Given the description of an element on the screen output the (x, y) to click on. 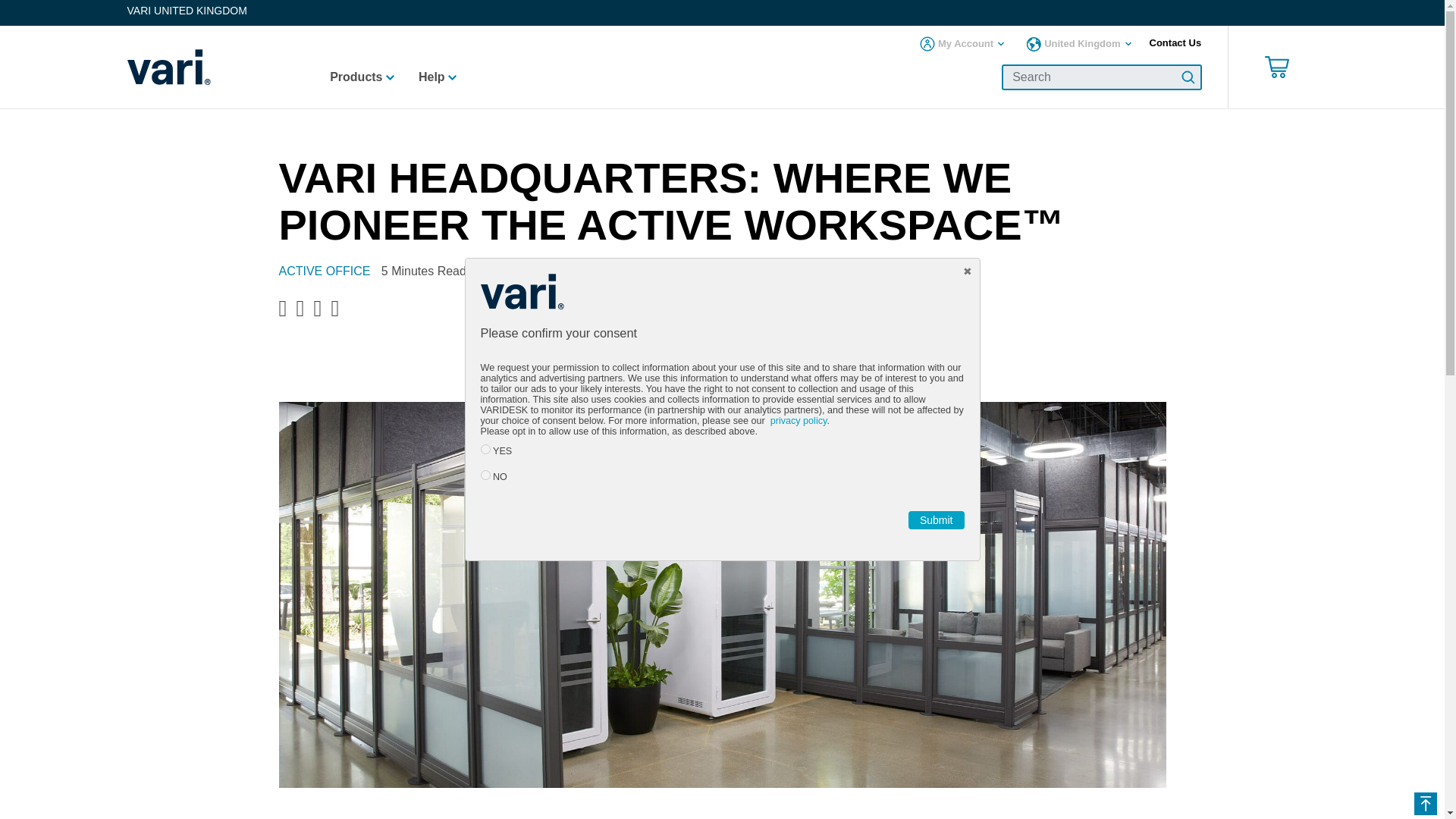
optin (485, 449)
Help (437, 82)
United Kingdom (1078, 43)
My Account (962, 43)
Products (361, 82)
optout (485, 474)
Contact Us (1176, 42)
